Given the description of an element on the screen output the (x, y) to click on. 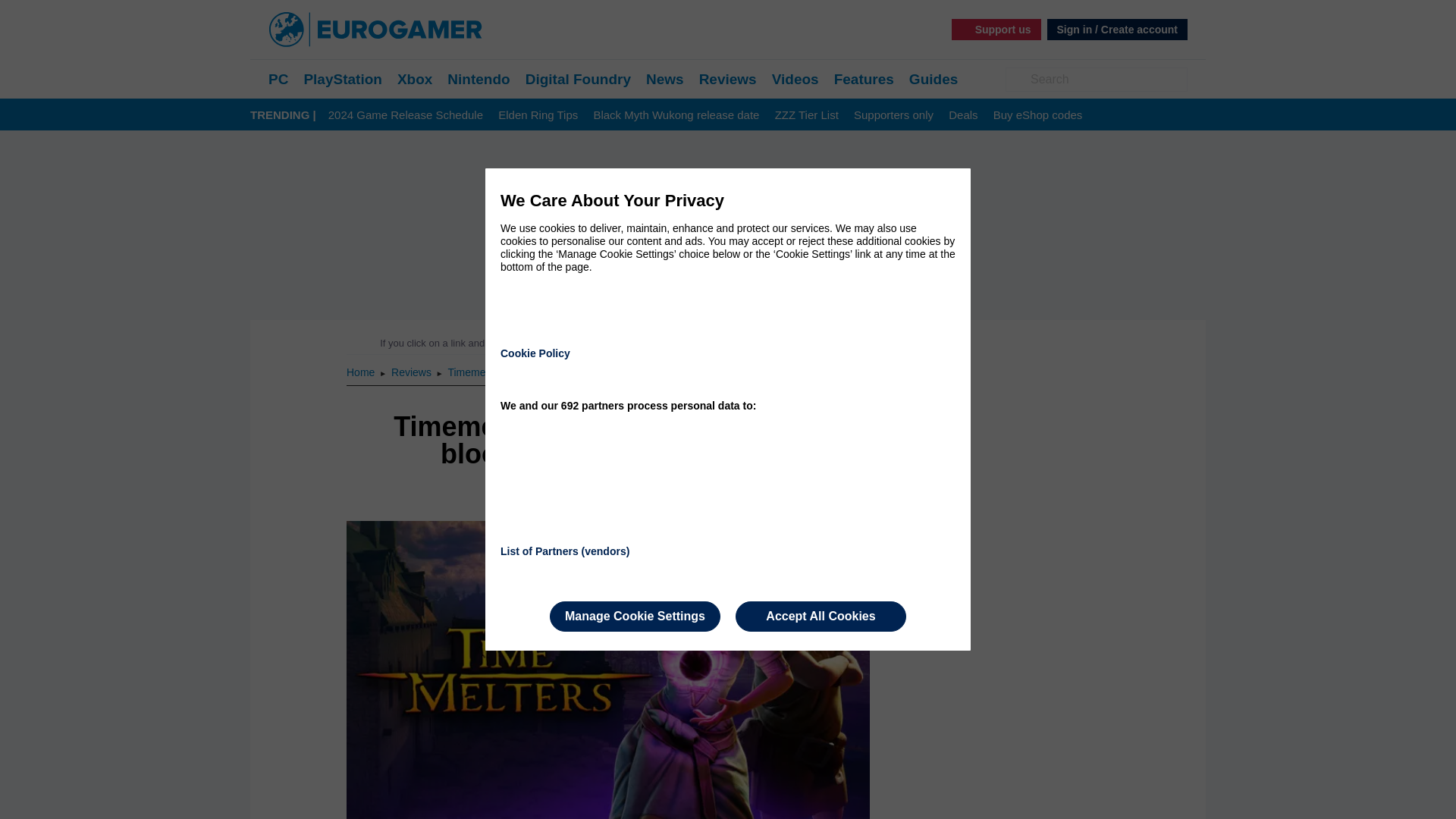
Deals (962, 114)
Deals (962, 114)
Videos (794, 78)
Elden Ring Tips (537, 114)
Reviews (412, 372)
Videos (794, 78)
Elden Ring Tips (537, 114)
Timemelters (475, 372)
Nintendo (477, 78)
2024 Game Release Schedule (406, 114)
